Given the description of an element on the screen output the (x, y) to click on. 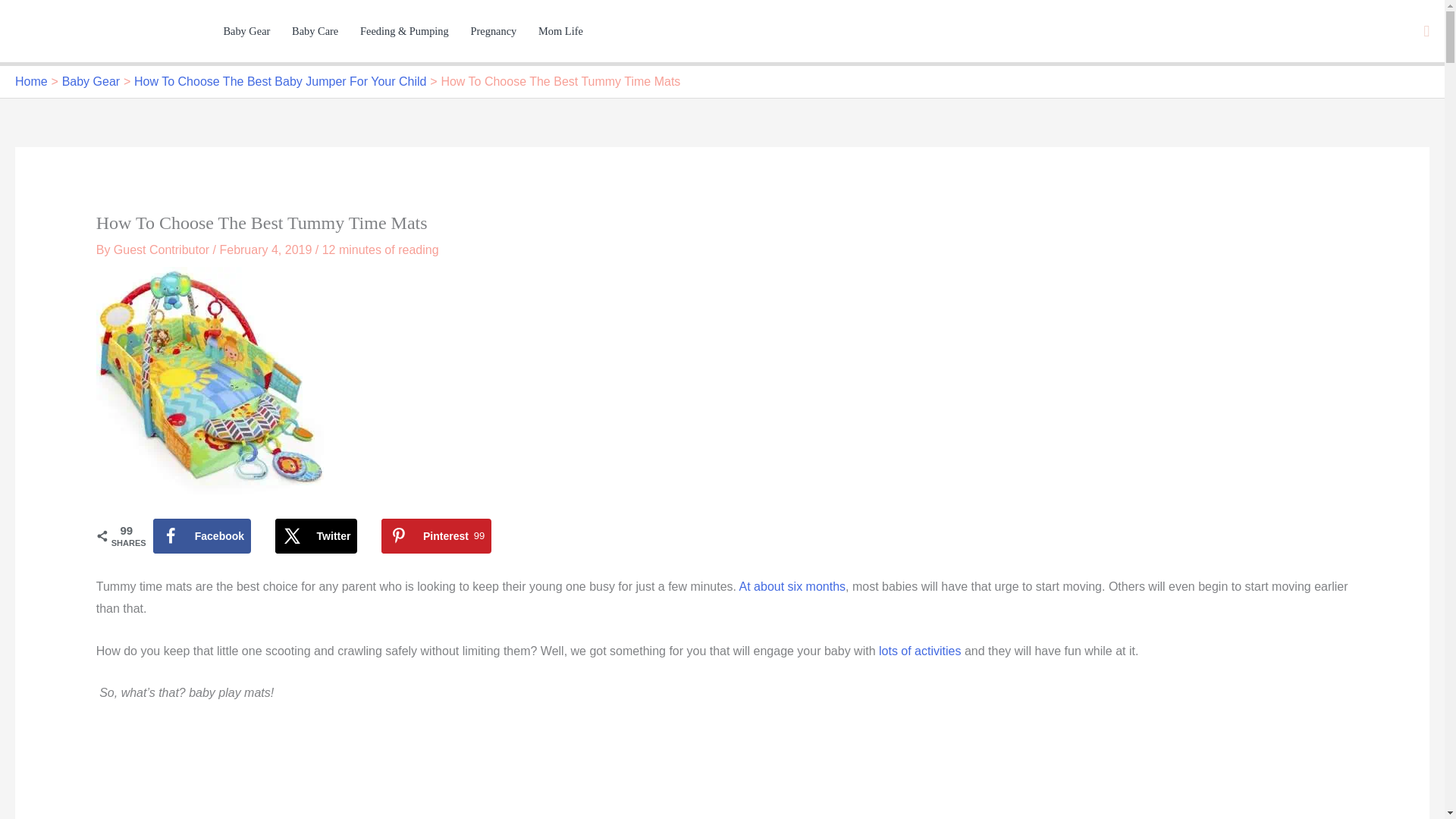
Guest Contributor (162, 249)
Share on X (316, 535)
Facebook (201, 535)
Baby Care (315, 30)
Baby Gear (246, 30)
Baby Gear (90, 81)
lots of activities (919, 650)
How To Choose The Best Baby Jumper For Your Child (279, 81)
View all posts by Guest Contributor (436, 535)
